Given the description of an element on the screen output the (x, y) to click on. 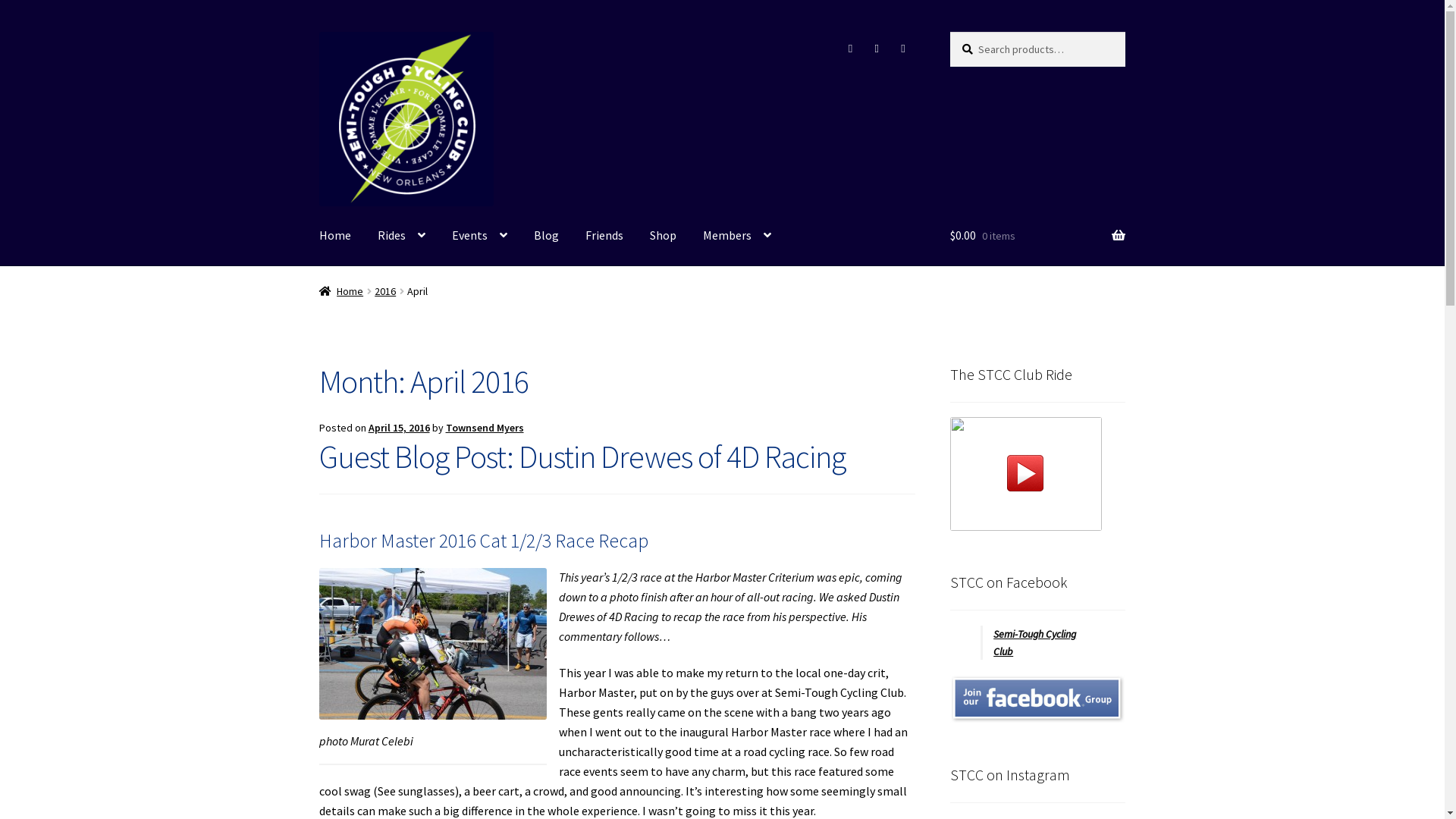
Instagram Element type: text (876, 48)
Home Element type: text (335, 235)
Skip to navigation Element type: text (318, 31)
2016 Element type: text (384, 291)
Shop Element type: text (662, 235)
Members Element type: text (736, 235)
Semi-Tough Cycling Club Element type: text (1034, 642)
$0.00 0 items Element type: text (1037, 235)
Friends Element type: text (604, 235)
Townsend Myers Element type: text (484, 427)
Search Element type: text (949, 31)
Guest Blog Post: Dustin Drewes of 4D Racing Element type: text (582, 456)
Events Element type: text (479, 235)
Rides Element type: text (401, 235)
April 15, 2016 Element type: text (398, 427)
Facebook Element type: text (850, 48)
Home Element type: text (341, 291)
Semi-Tough Cycling Club Element type: hover (406, 118)
Strava Element type: text (903, 48)
Blog Element type: text (546, 235)
